Given the description of an element on the screen output the (x, y) to click on. 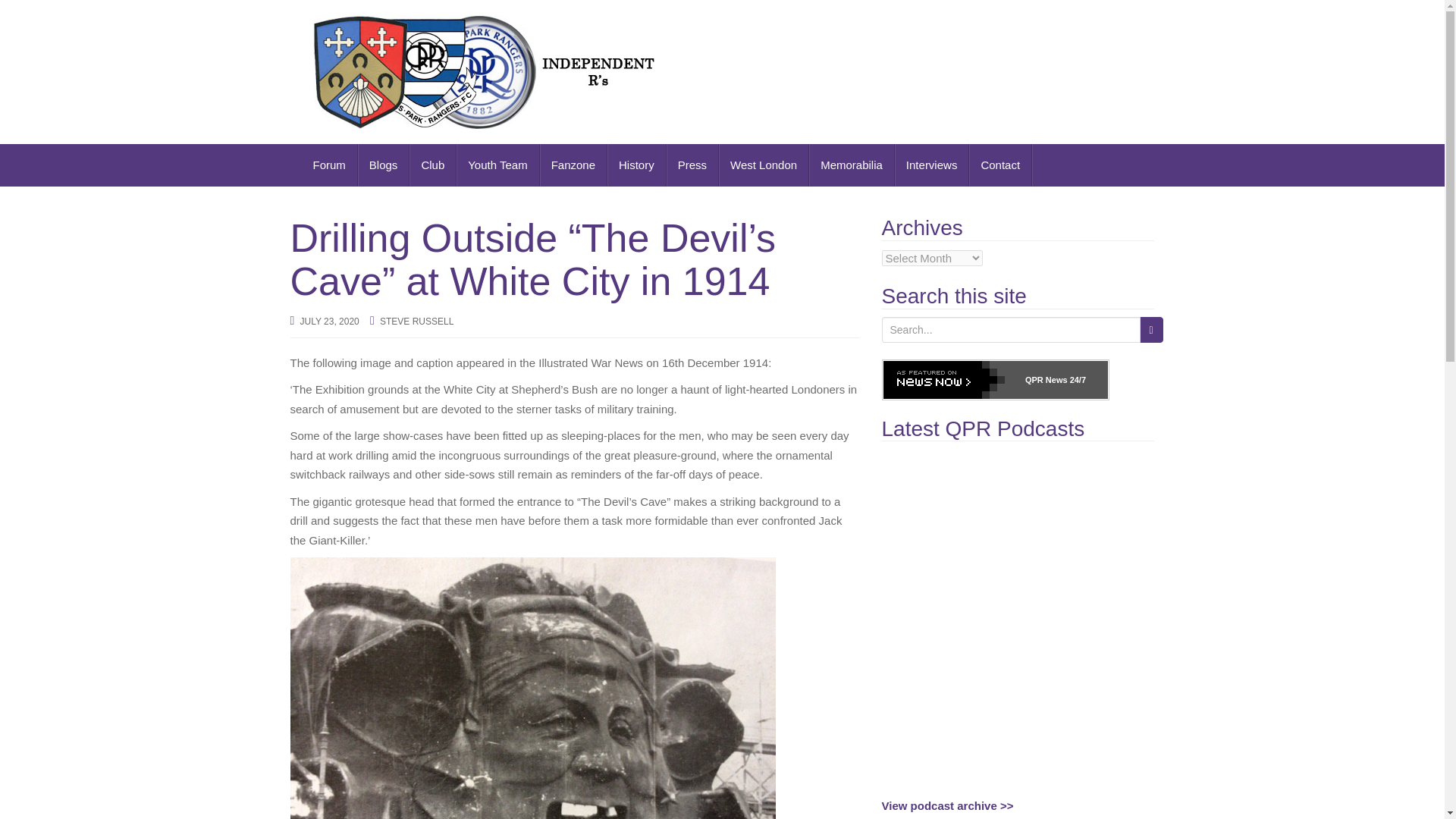
Contact (1000, 165)
Club (433, 165)
Youth Team (497, 165)
Interviews (932, 165)
Forum (329, 165)
History (636, 165)
West London (764, 165)
Memorabilia (852, 165)
Contact (1000, 165)
Blogs (384, 165)
